Given the description of an element on the screen output the (x, y) to click on. 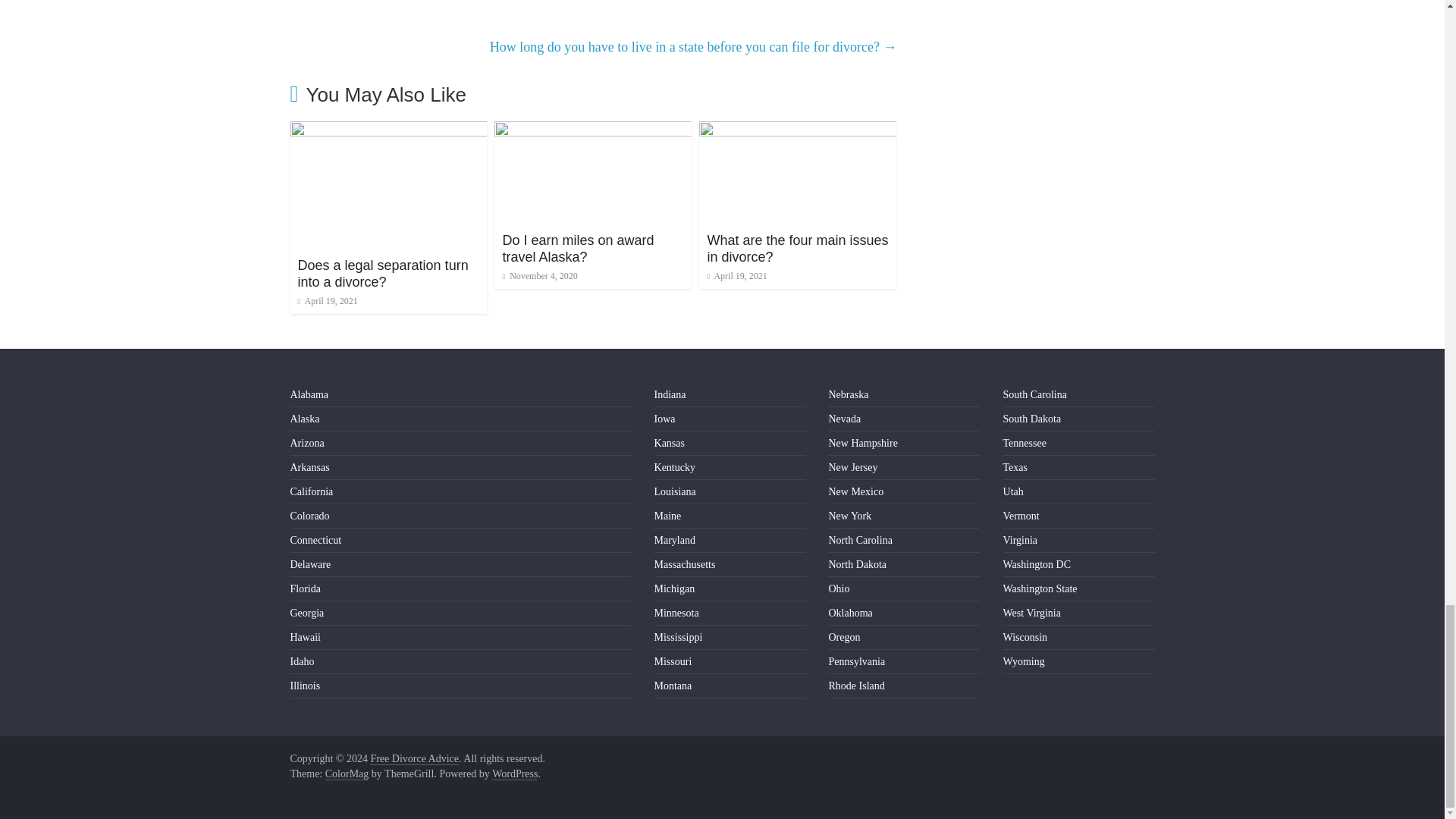
Does a legal separation turn into a divorce? (382, 273)
Do I earn miles on award travel Alaska? (577, 248)
November 4, 2020 (539, 276)
April 19, 2021 (326, 300)
